Given the description of an element on the screen output the (x, y) to click on. 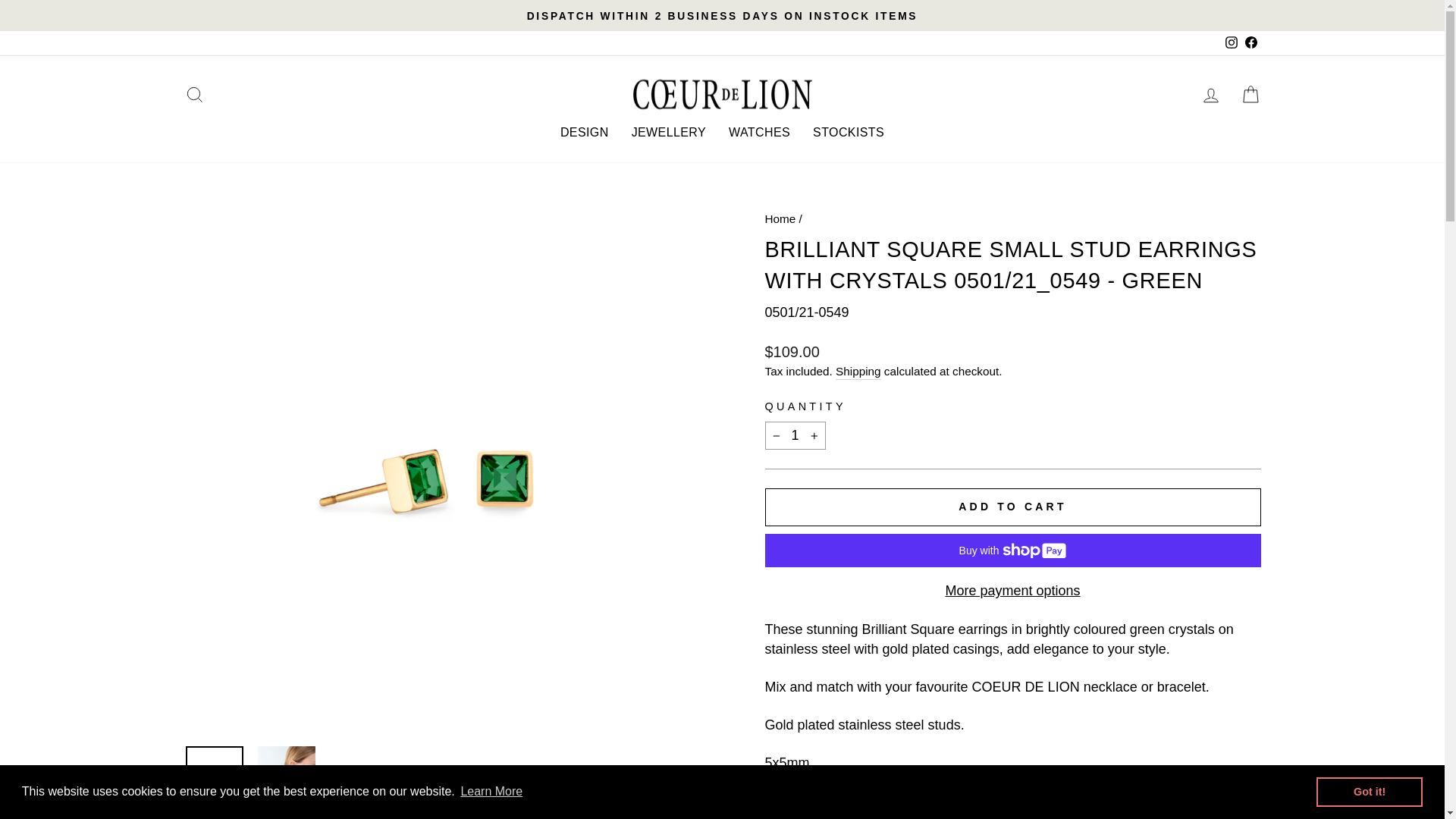
LOG IN (1210, 94)
Got it! (1369, 791)
Back to the frontpage (779, 218)
Learn More (491, 791)
1 (794, 435)
SEARCH (194, 94)
